Given the description of an element on the screen output the (x, y) to click on. 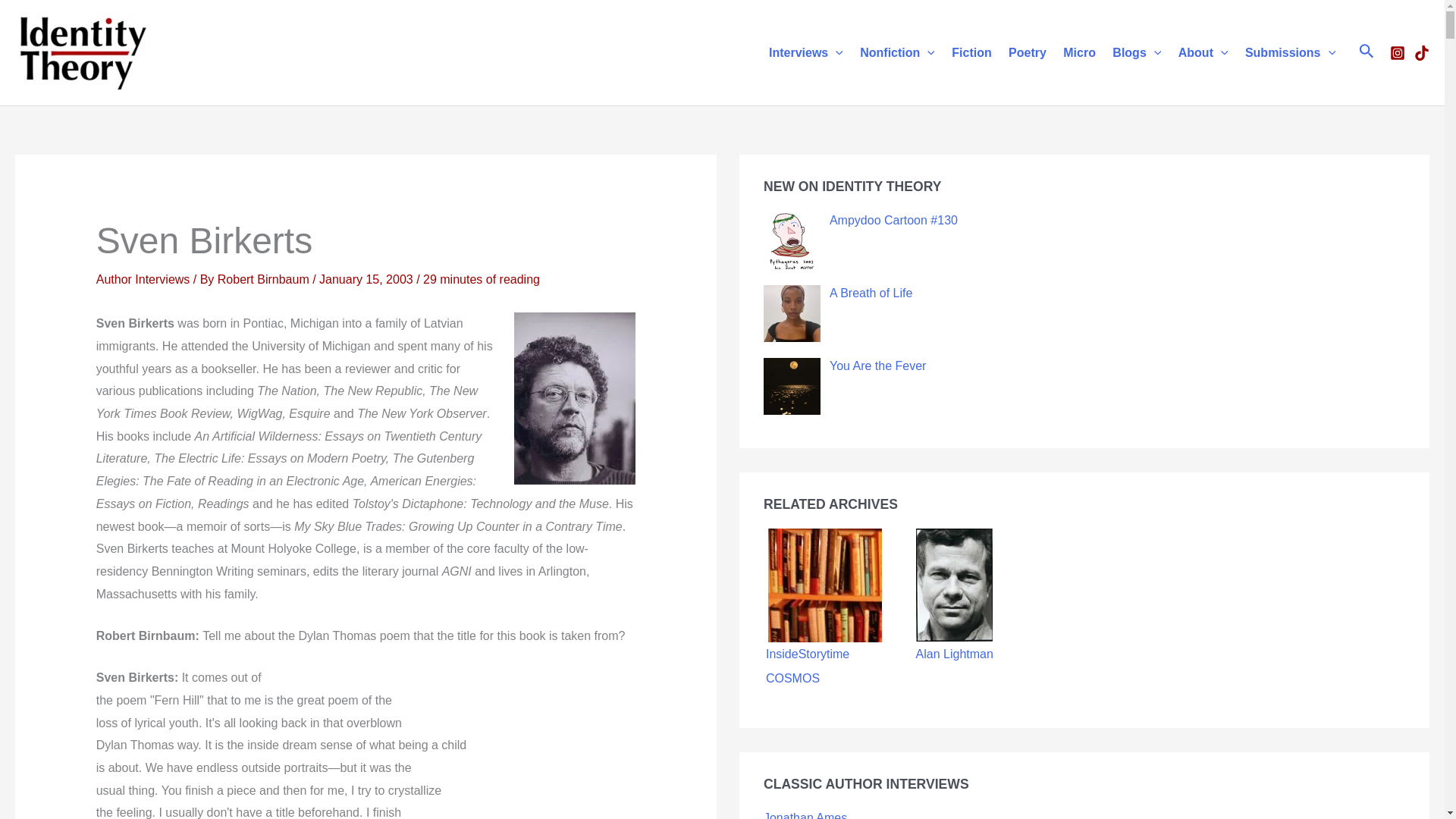
InsideStorytime COSMOS (825, 585)
View all posts by Robert Birnbaum (264, 278)
Interviews (805, 51)
Submissions (1289, 51)
About (1203, 51)
Nonfiction (897, 51)
Blogs (1136, 51)
